Given the description of an element on the screen output the (x, y) to click on. 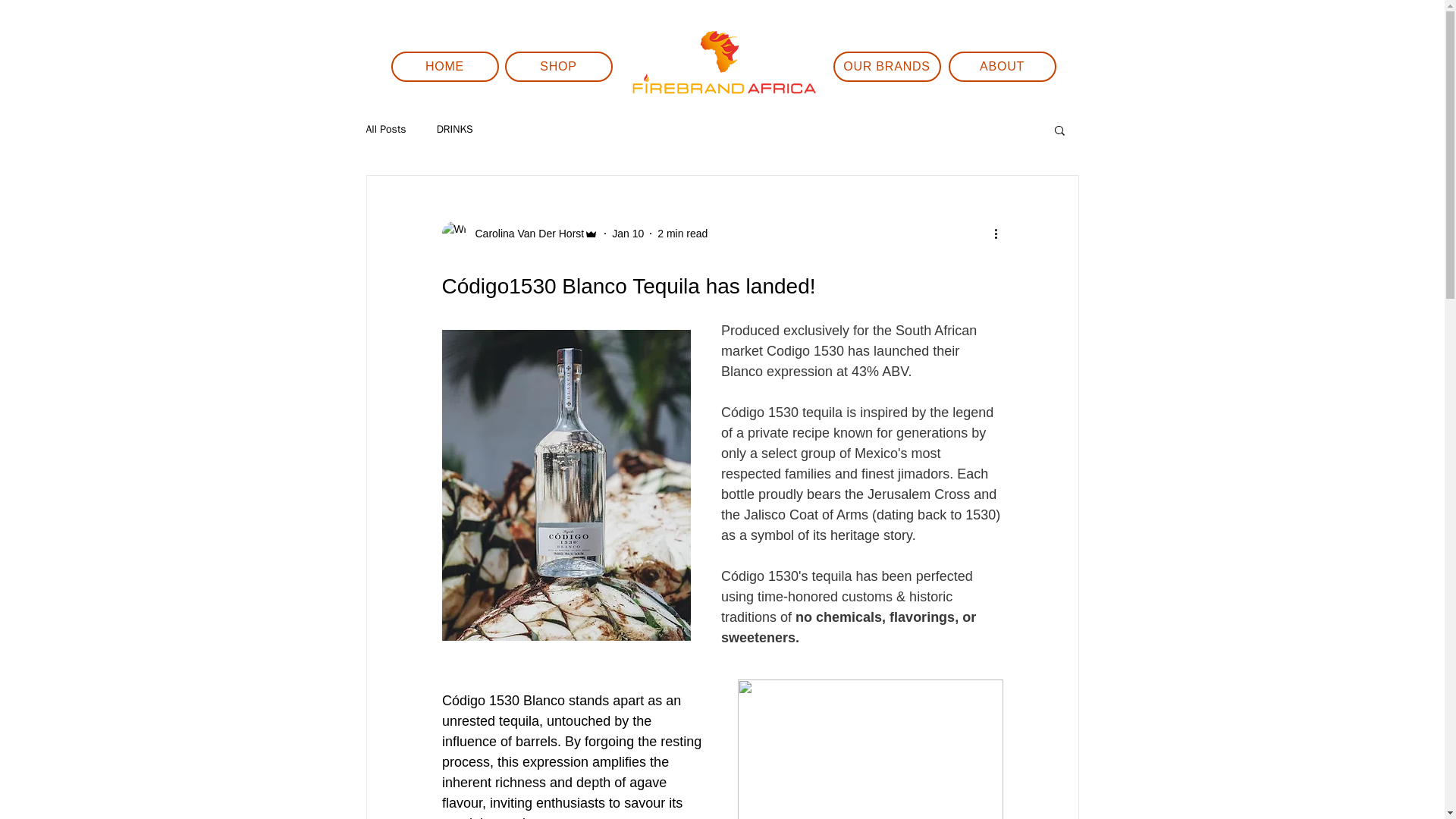
DRINKS (454, 129)
Jan 10 (627, 233)
ABOUT (1001, 66)
HOME (445, 66)
SHOP (558, 66)
Carolina Van Der Horst (519, 233)
All Posts (385, 129)
2 min read (682, 233)
OUR BRANDS (886, 66)
Carolina Van Der Horst (524, 233)
